Given the description of an element on the screen output the (x, y) to click on. 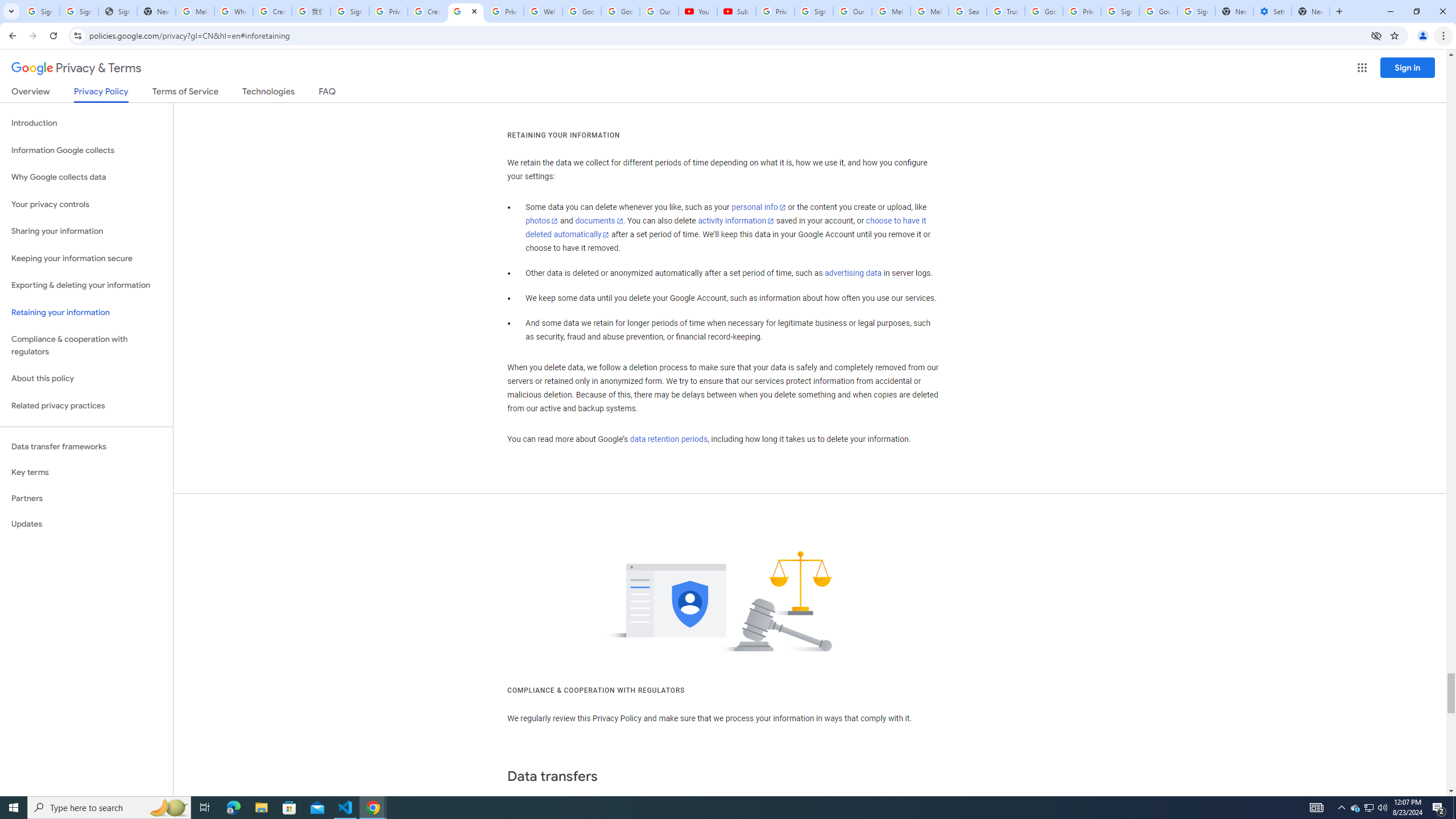
Third-party cookies blocked (1376, 35)
Related privacy practices (86, 405)
Address and search bar (726, 35)
Overview (30, 93)
Subscriptions - YouTube (736, 11)
Why Google collects data (86, 176)
Create your Google Account (272, 11)
View site information (77, 35)
Updates (86, 524)
Information Google collects (86, 150)
Exporting & deleting your information (86, 284)
data retention periods (667, 439)
